Given the description of an element on the screen output the (x, y) to click on. 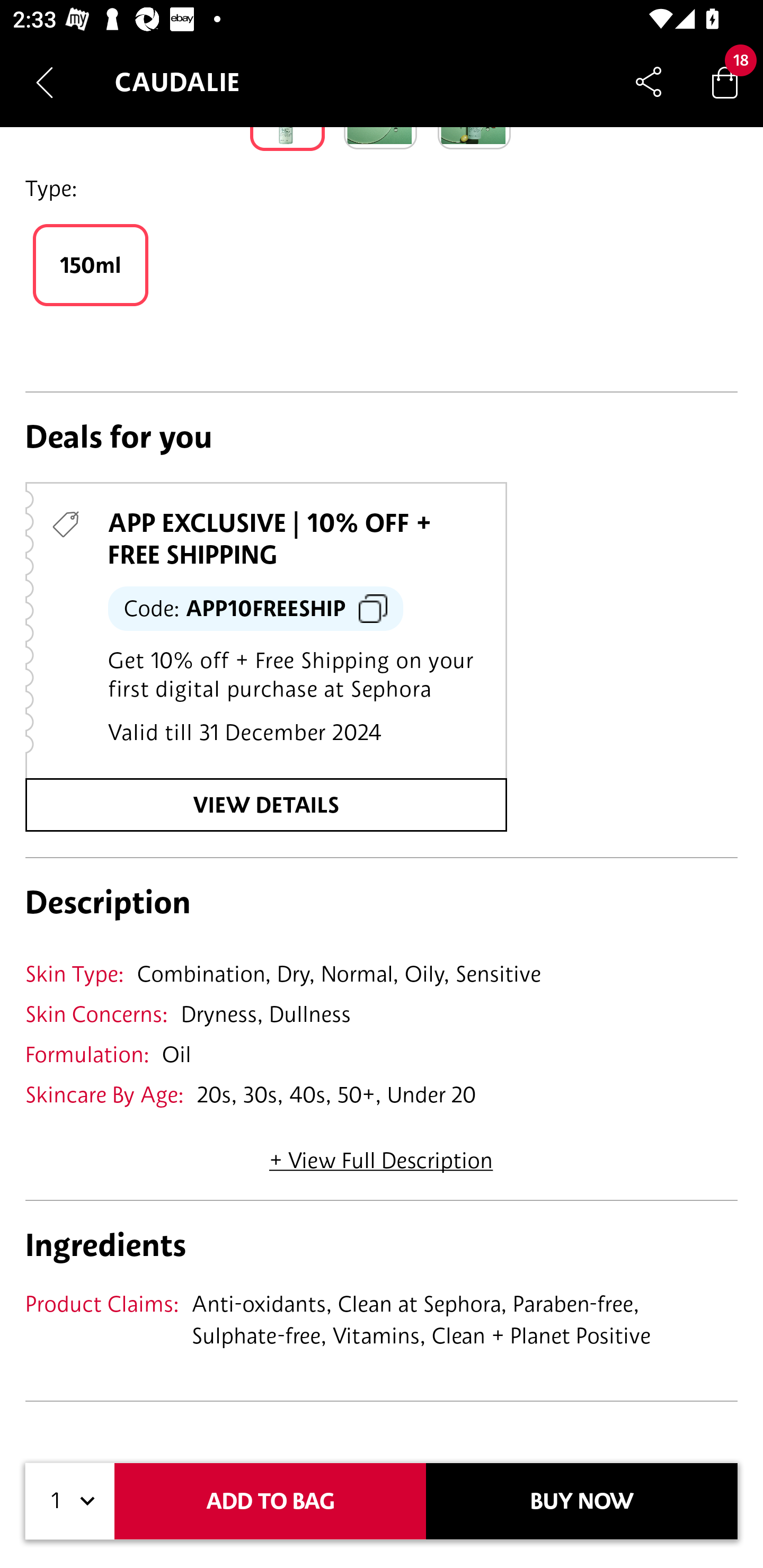
Navigate up (44, 82)
Share (648, 81)
Bag (724, 81)
150ml (90, 264)
VIEW DETAILS (266, 804)
+ View Full Description (380, 1153)
1 (69, 1500)
ADD TO BAG (269, 1500)
BUY NOW (581, 1500)
